Given the description of an element on the screen output the (x, y) to click on. 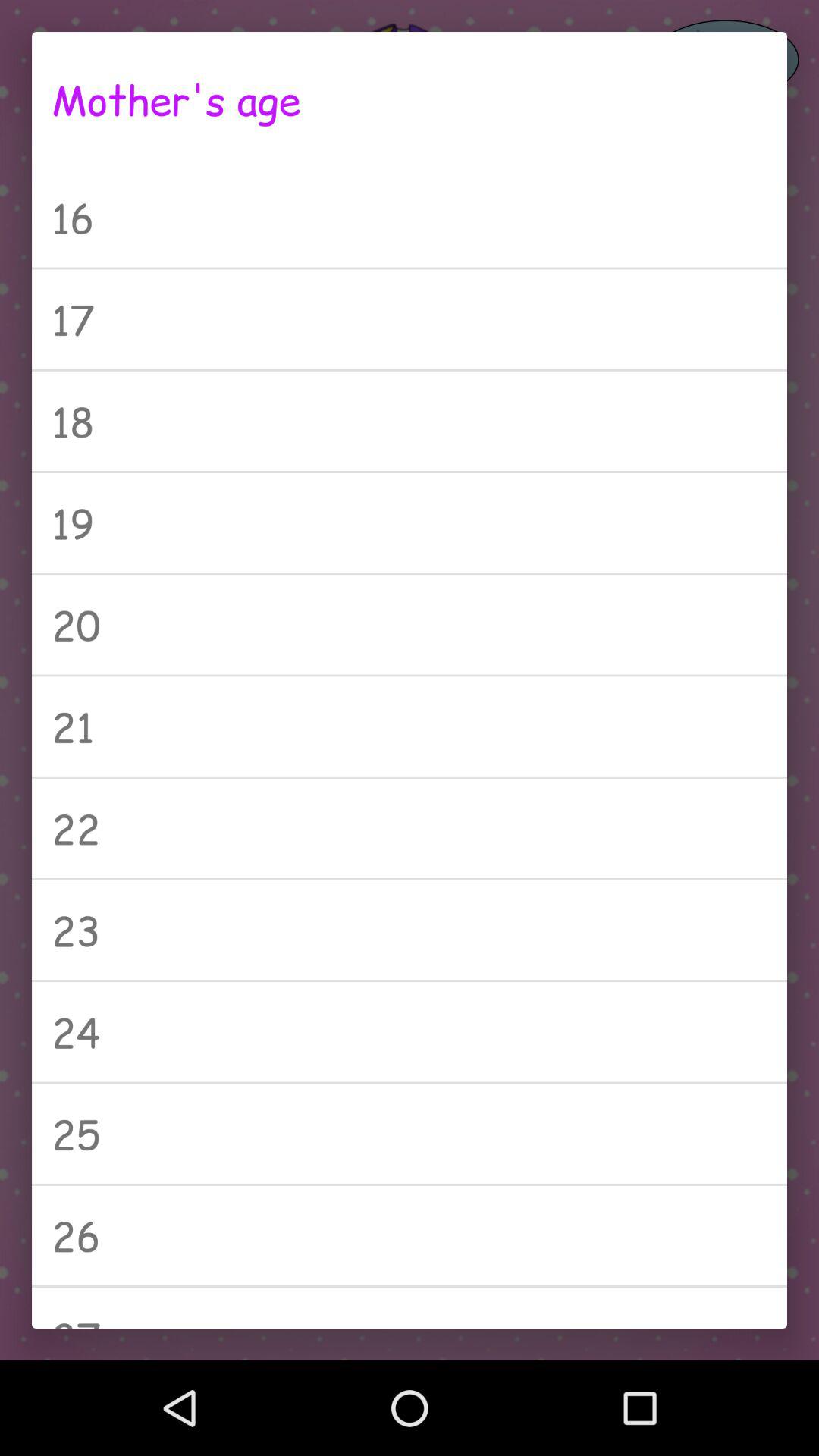
launch item below the 25 icon (409, 1235)
